Given the description of an element on the screen output the (x, y) to click on. 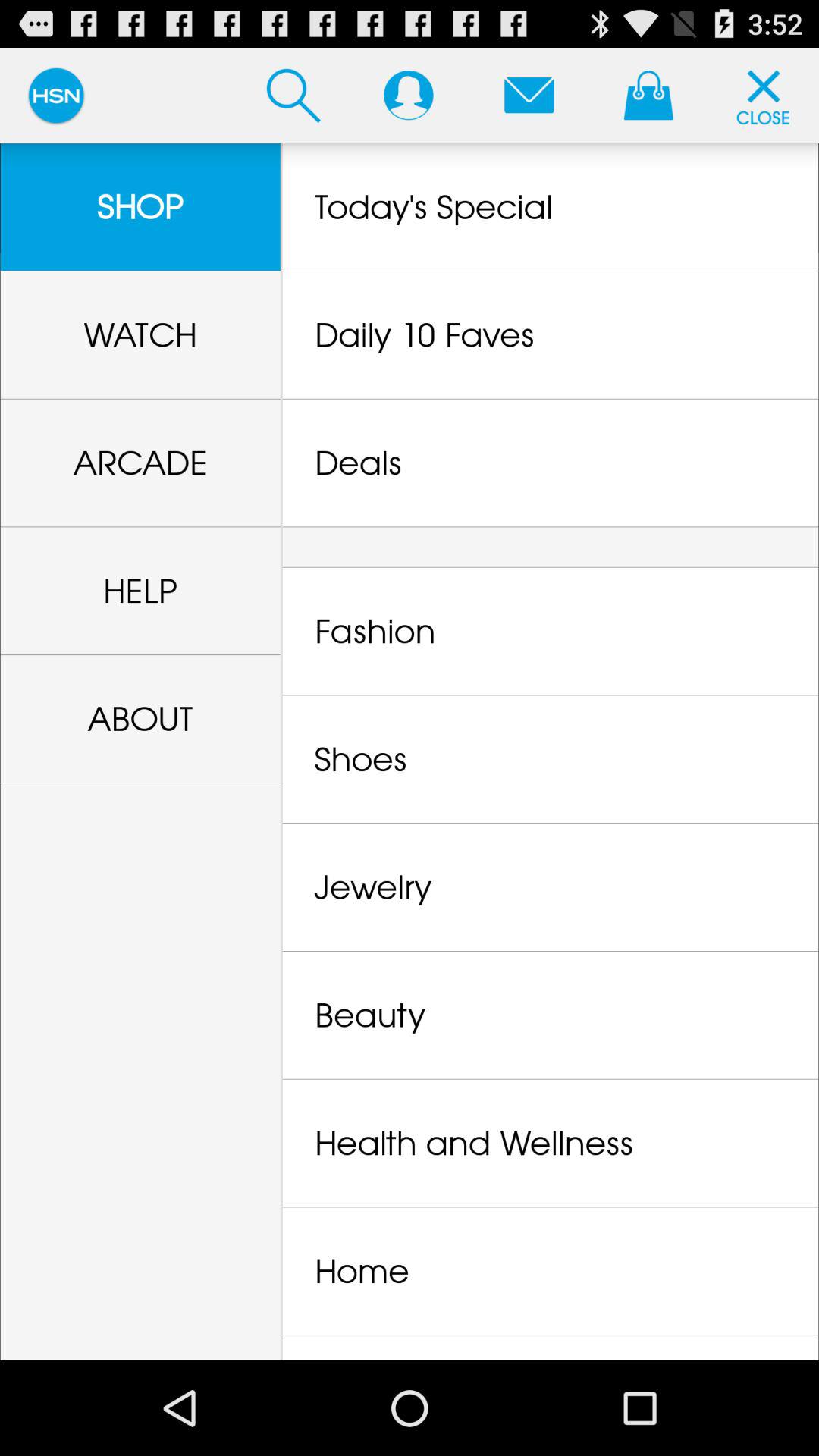
click on the message icon at top of the page (529, 96)
